Given the description of an element on the screen output the (x, y) to click on. 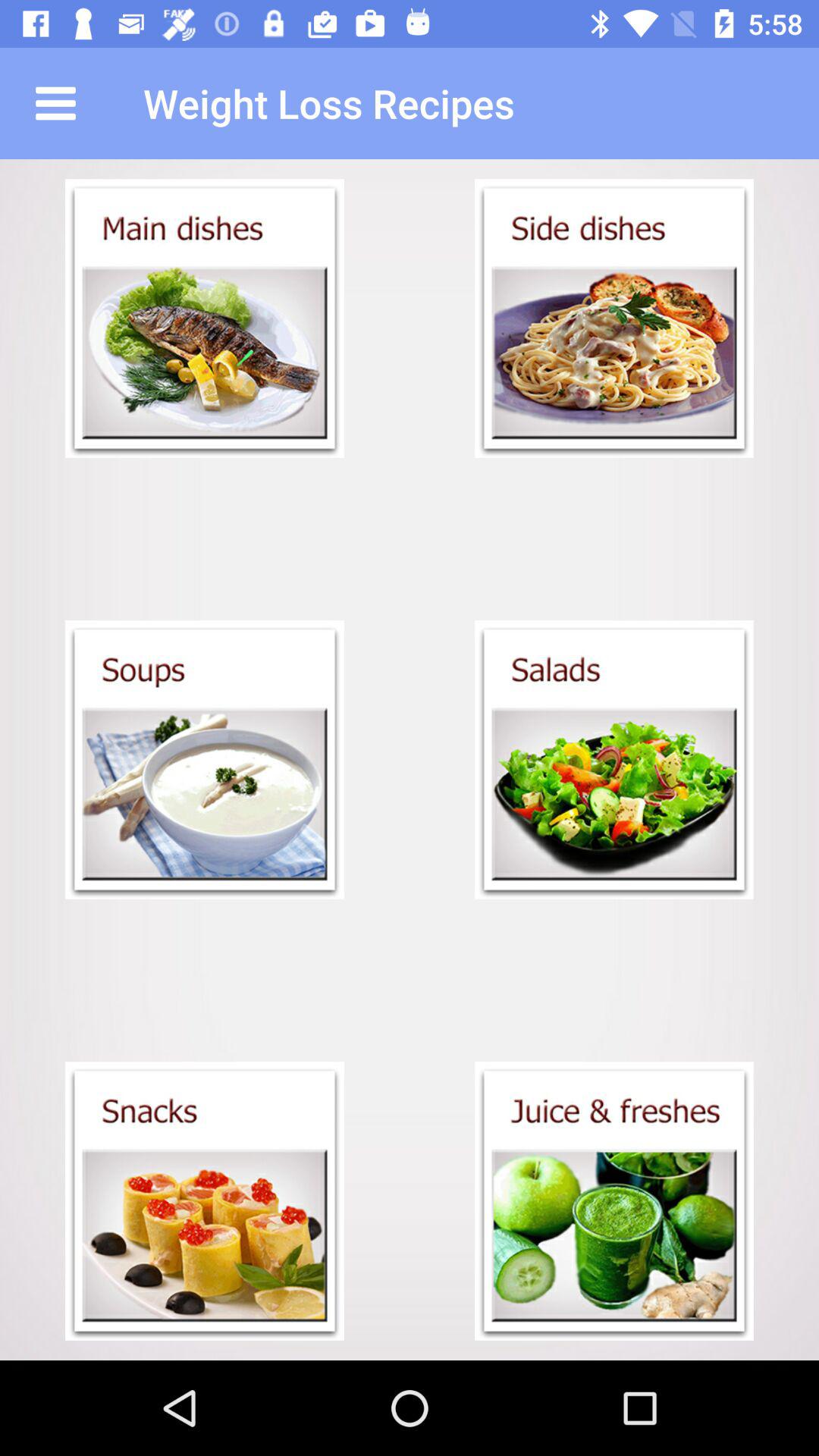
choose the icon next to weight loss recipes app (55, 103)
